Given the description of an element on the screen output the (x, y) to click on. 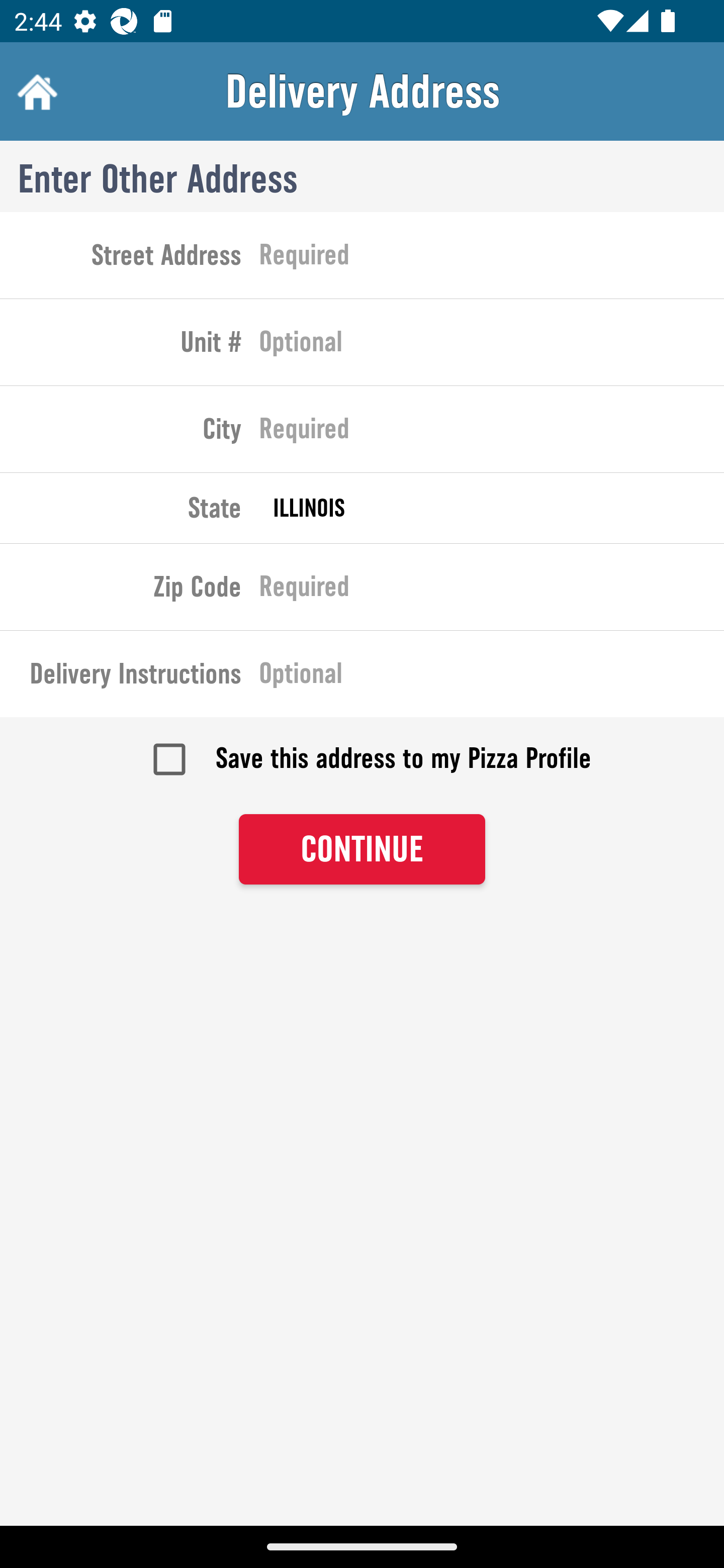
Home (35, 91)
Required (491, 258)
Optional (491, 345)
Required (491, 432)
ILLINOIS (491, 507)
Required (491, 590)
Optional (491, 677)
CONTINUE (361, 848)
